Given the description of an element on the screen output the (x, y) to click on. 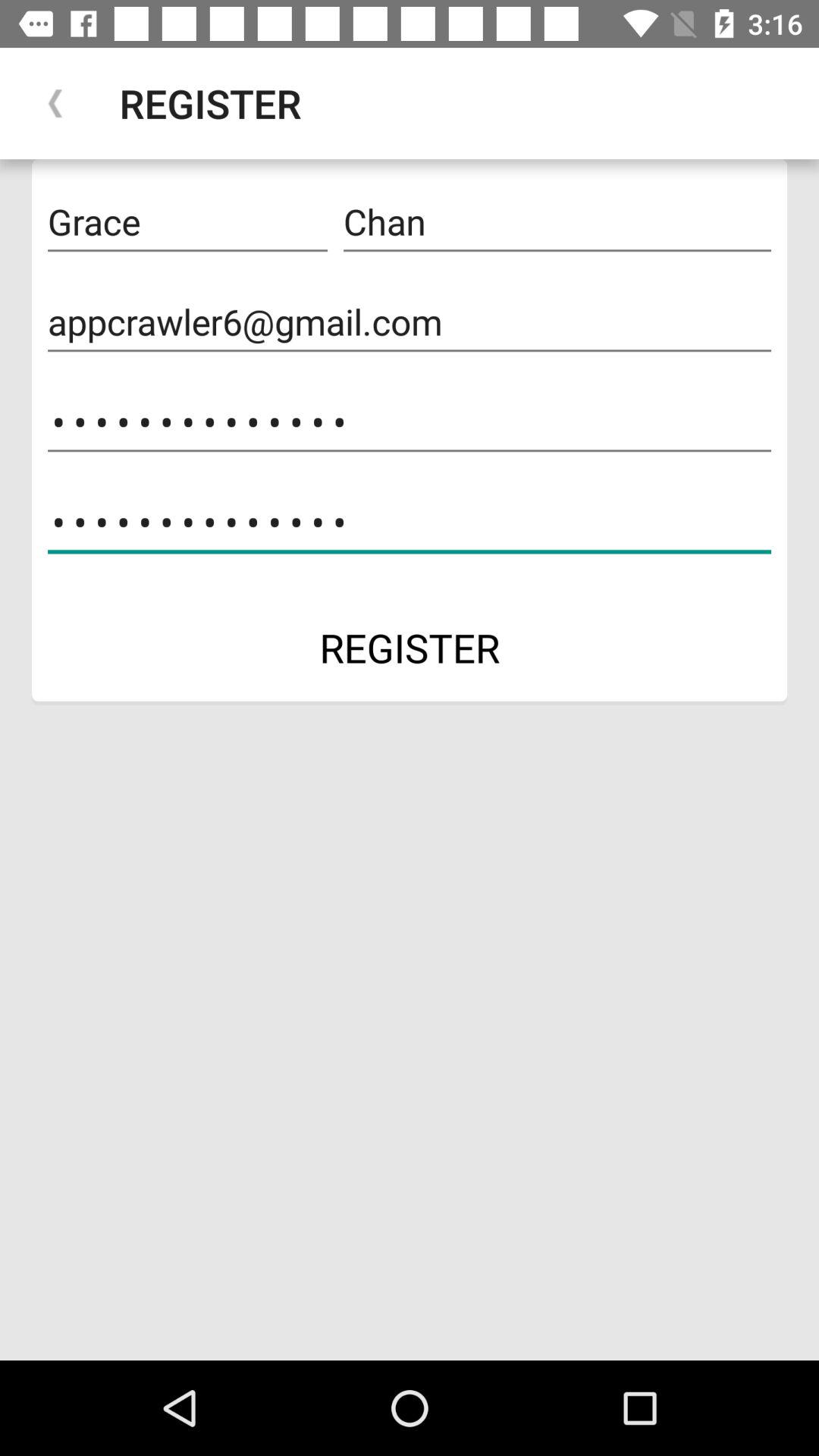
turn on item above the appcrawler6@gmail.com (557, 222)
